Given the description of an element on the screen output the (x, y) to click on. 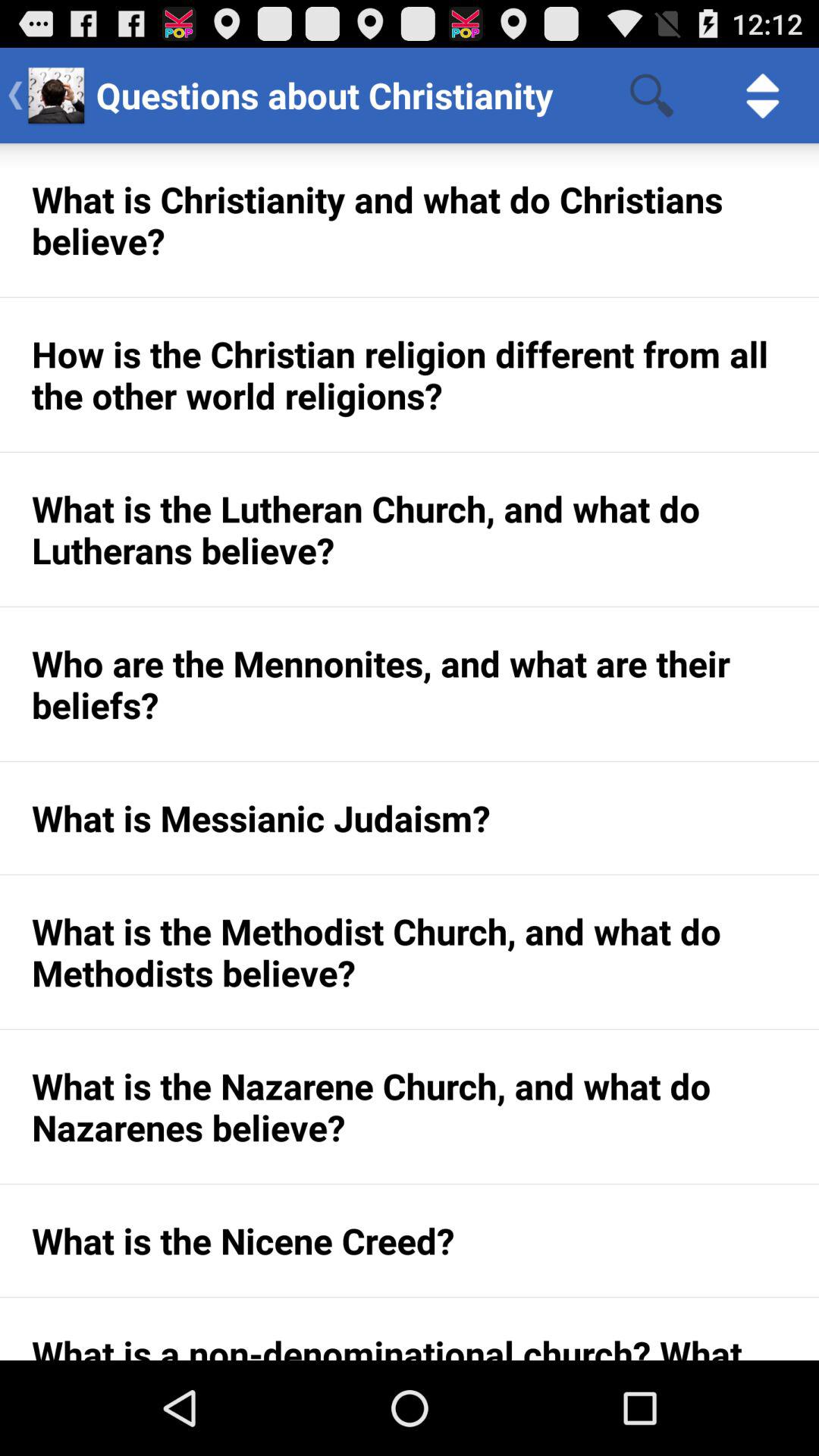
open icon to the right of the questions about christianity icon (651, 95)
